Given the description of an element on the screen output the (x, y) to click on. 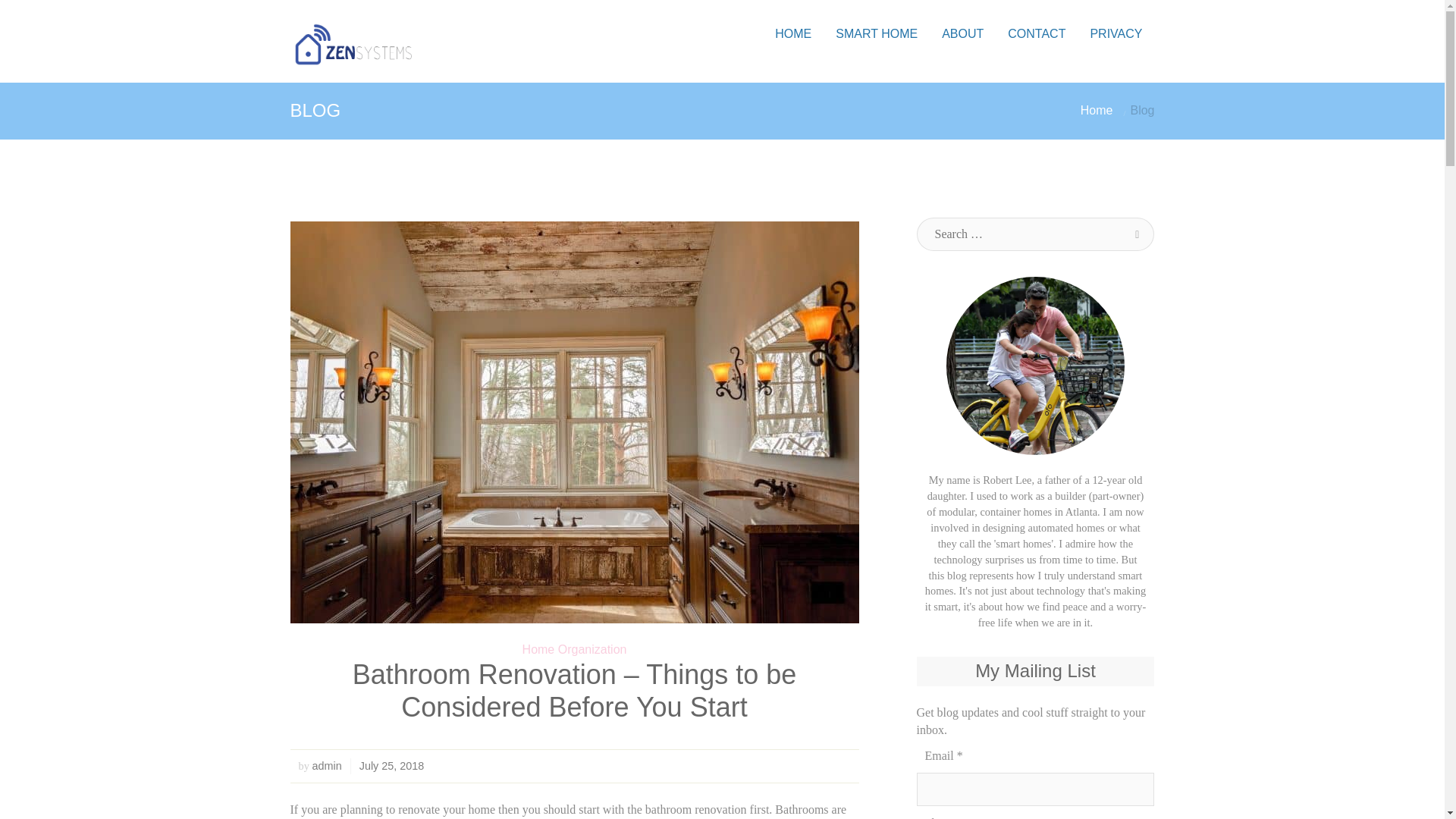
Search (1137, 233)
Home (1096, 110)
Search (1137, 233)
SMART HOME (877, 33)
Home (1096, 110)
ABOUT (962, 33)
HOME (793, 33)
Search (1137, 233)
admin (327, 766)
July 25, 2018 (392, 766)
